Given the description of an element on the screen output the (x, y) to click on. 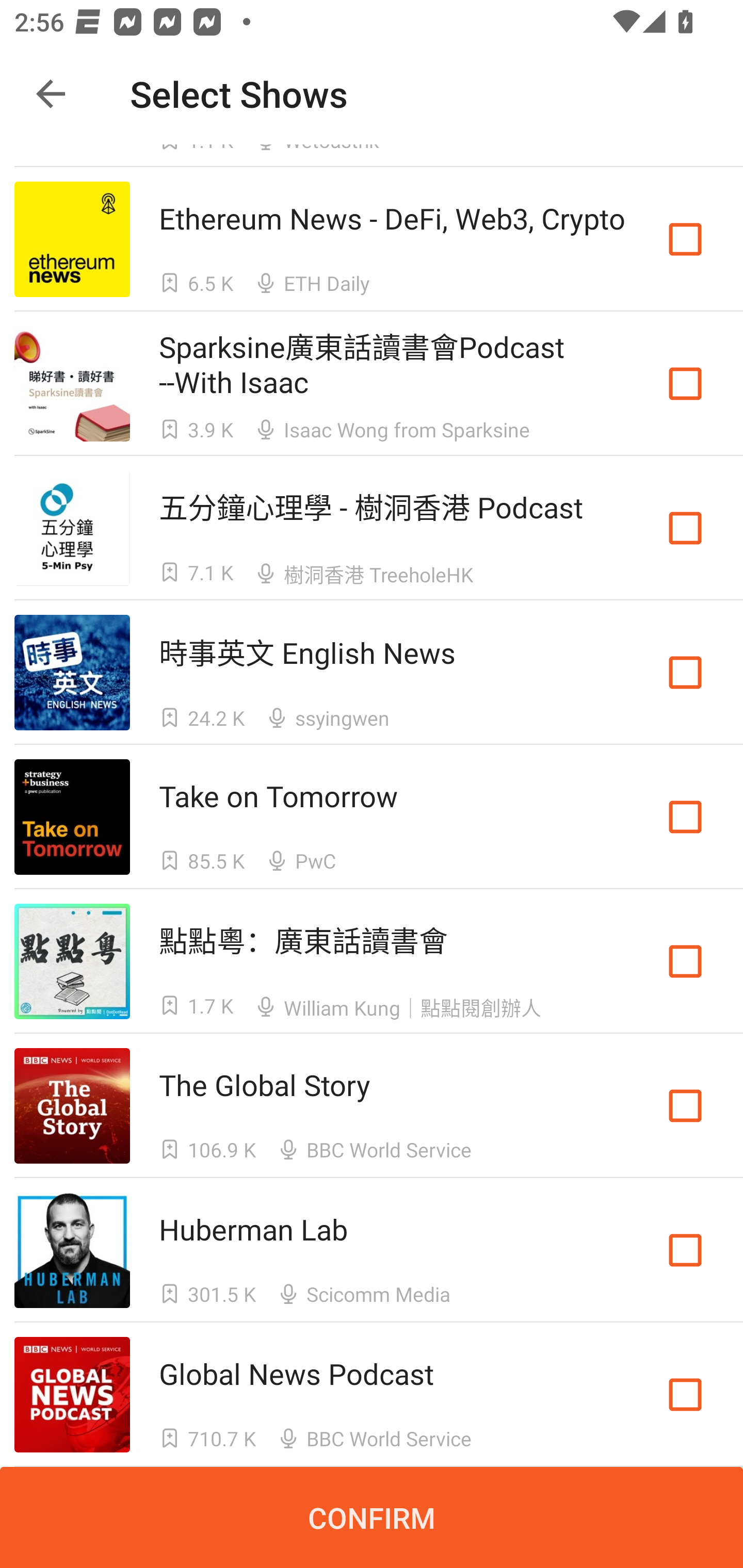
Navigate up (50, 93)
Take on Tomorrow Take on Tomorrow  85.5 K  PwC (371, 816)
CONFIRM (371, 1517)
